Given the description of an element on the screen output the (x, y) to click on. 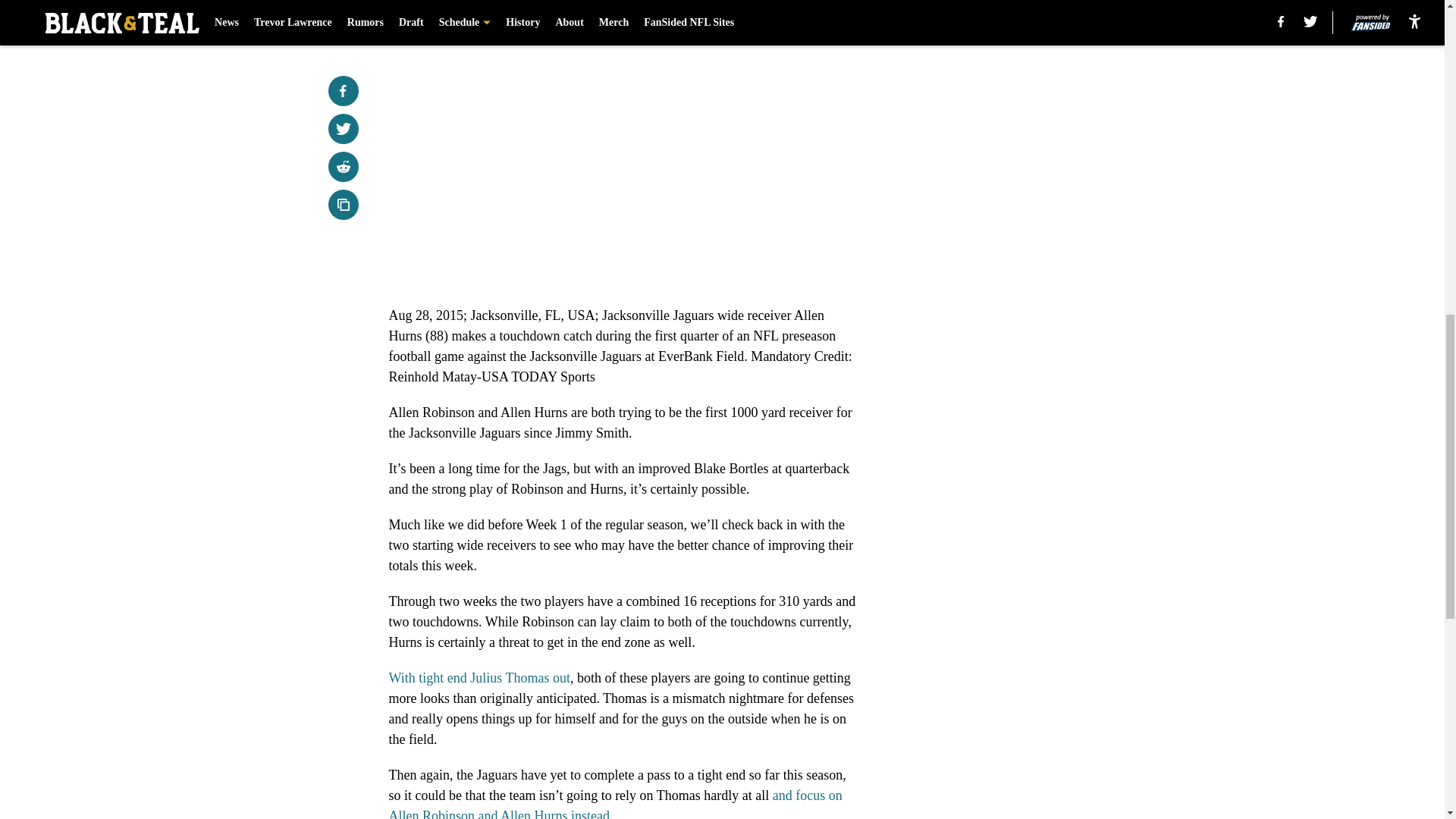
Next (813, 5)
Prev (433, 5)
With tight end Julius Thomas out (478, 677)
and focus on Allen Robinson and Allen Hurns instead (614, 803)
